Given the description of an element on the screen output the (x, y) to click on. 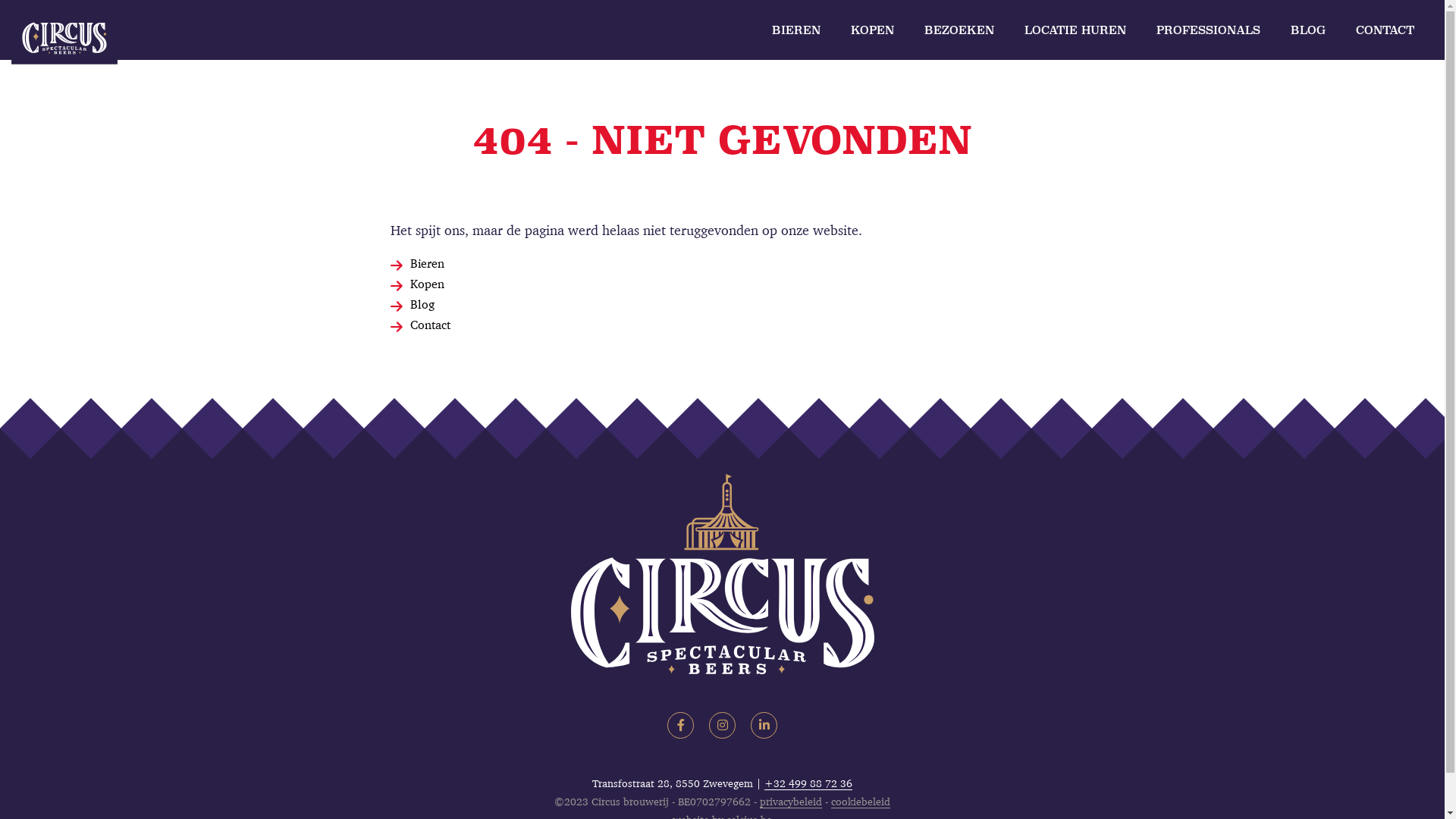
privacybeleid Element type: text (790, 801)
KOPEN Element type: text (872, 29)
Contact Element type: text (430, 324)
cookiebeleid Element type: text (860, 801)
Kopen Element type: text (427, 283)
+32 499 88 72 36 Element type: text (808, 783)
PROFESSIONALS Element type: text (1208, 29)
BLOG Element type: text (1307, 29)
BIEREN Element type: text (795, 29)
CONTACT Element type: text (1384, 29)
BEZOEKEN Element type: text (959, 29)
Bieren Element type: text (427, 262)
LOCATIE HUREN Element type: text (1075, 29)
Blog Element type: text (422, 303)
